Given the description of an element on the screen output the (x, y) to click on. 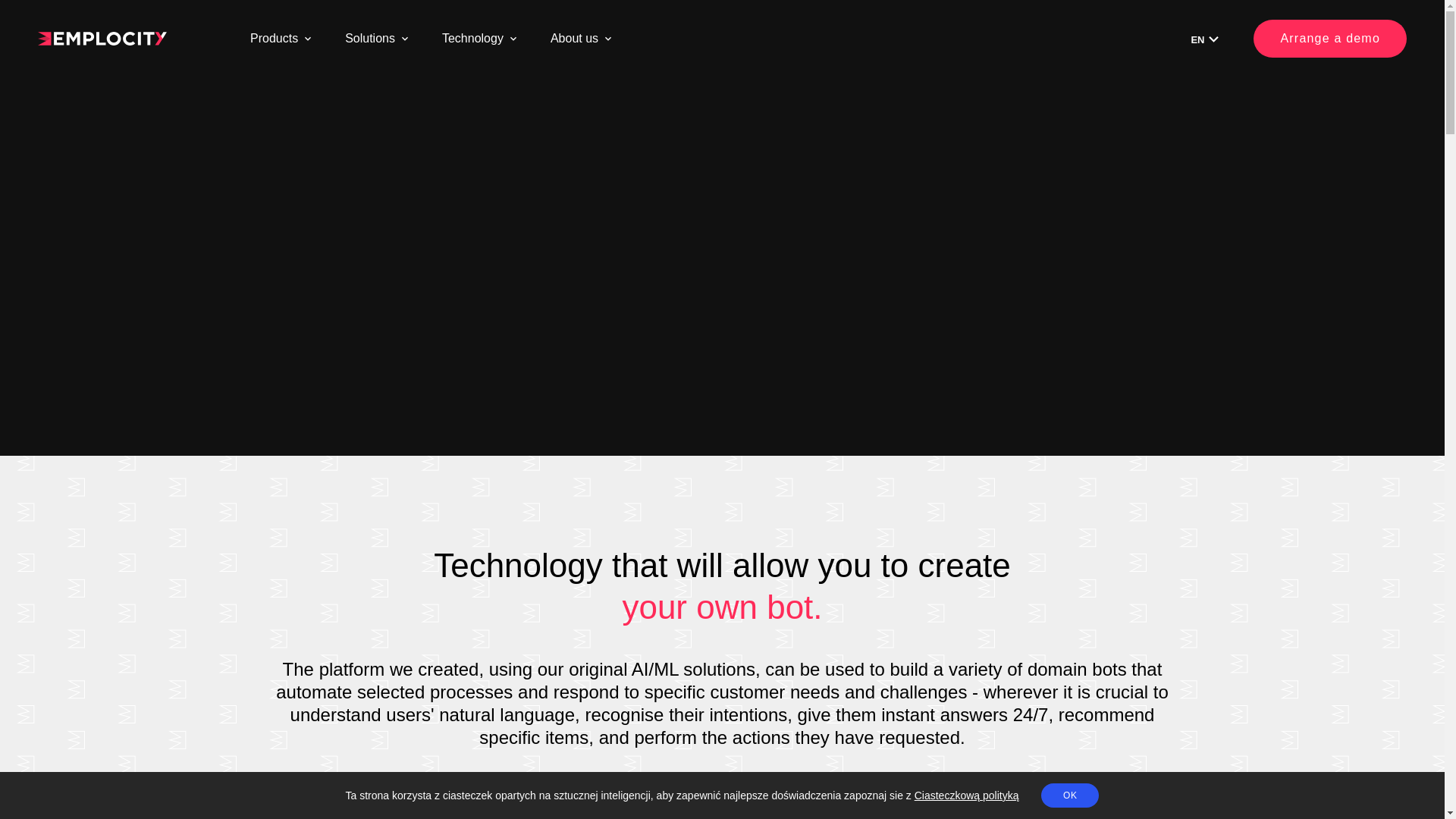
Privacy Policy (1131, 106)
CSR Policy (1124, 143)
Arrange a demo (1329, 38)
Log in (569, 106)
en (1206, 39)
Cookies Policy (840, 106)
UE Projects (306, 106)
OK (1070, 794)
